Given the description of an element on the screen output the (x, y) to click on. 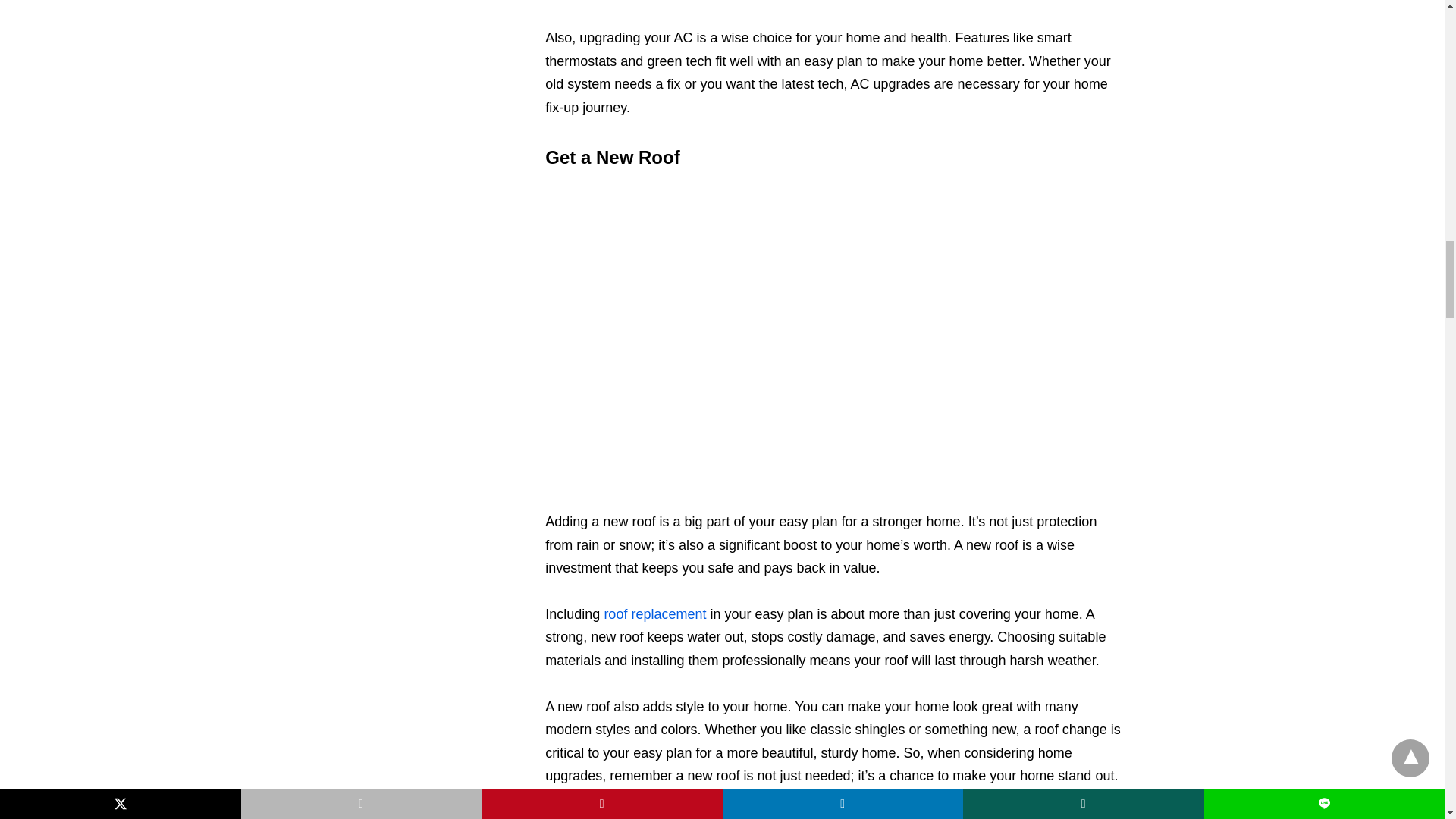
roof replacement (655, 613)
